Given the description of an element on the screen output the (x, y) to click on. 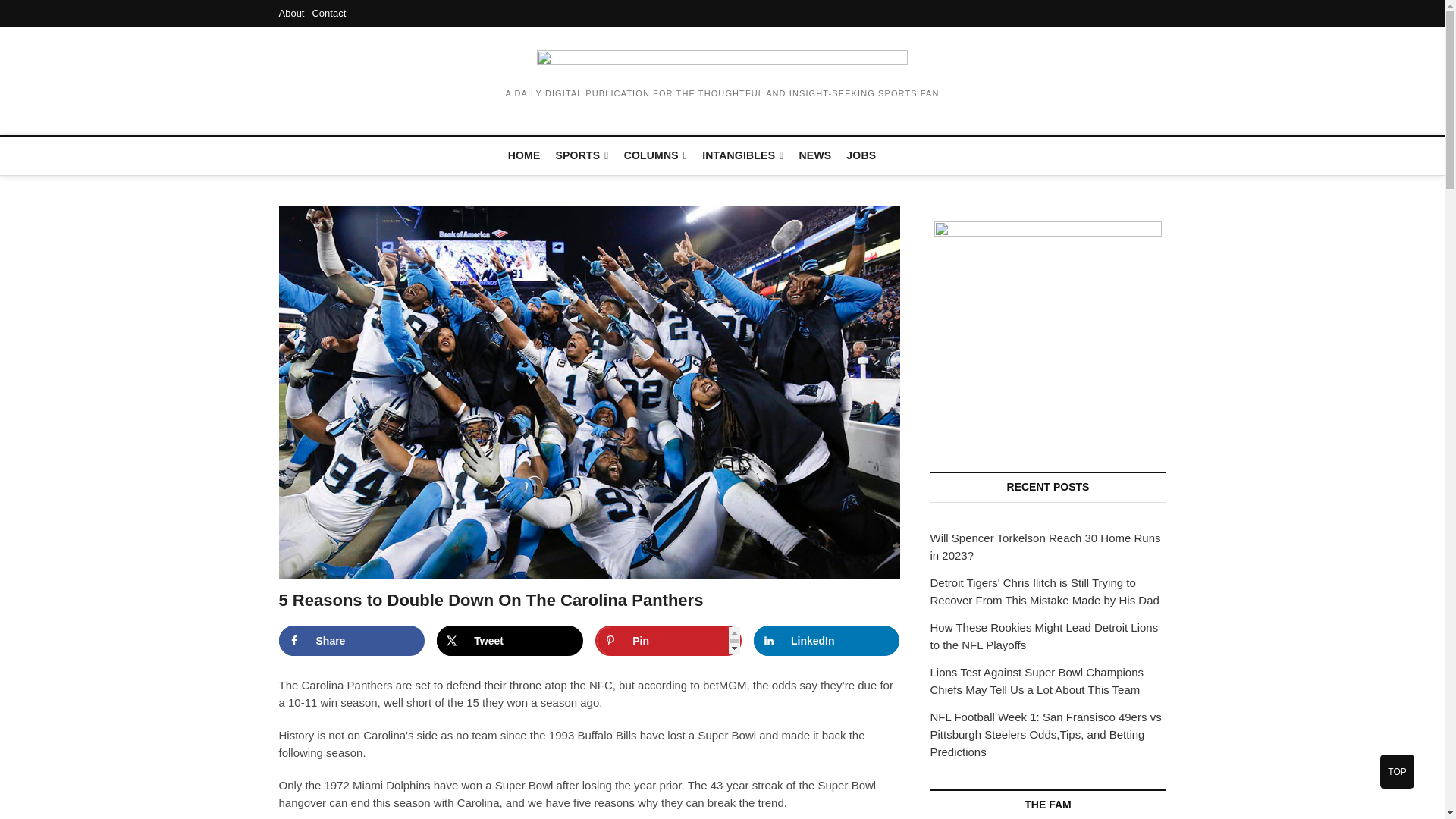
Tweet (509, 640)
Share on LinkedIn (826, 640)
JOBS (860, 155)
Save to Pinterest (668, 640)
About (291, 12)
HOME (524, 155)
INTANGIBLES (742, 155)
Share on X (509, 640)
COLUMNS (655, 155)
Share (352, 640)
